Given the description of an element on the screen output the (x, y) to click on. 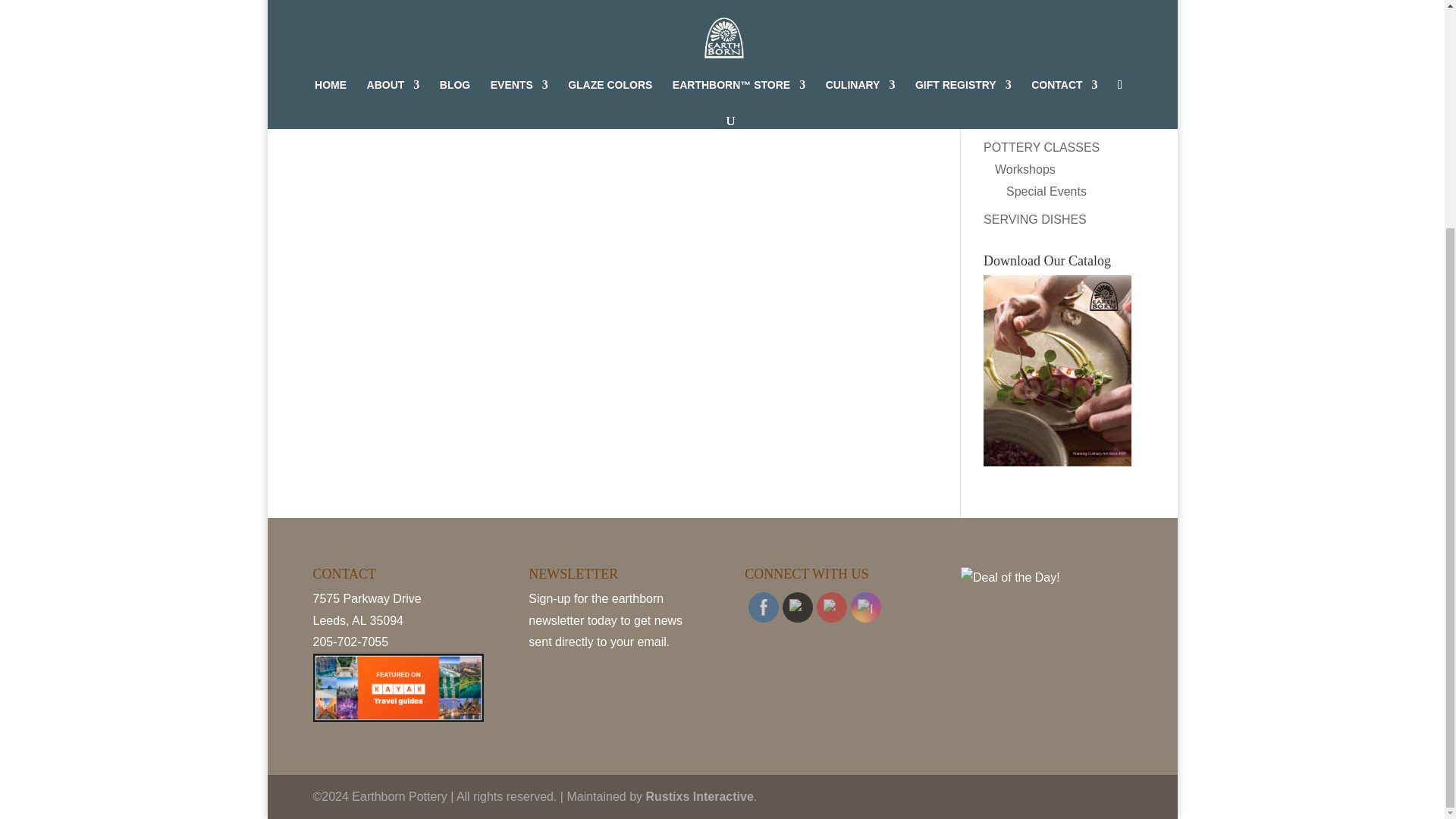
Pinterest (832, 606)
Twitter (797, 606)
Instagram (866, 606)
Facebook (763, 606)
